Given the description of an element on the screen output the (x, y) to click on. 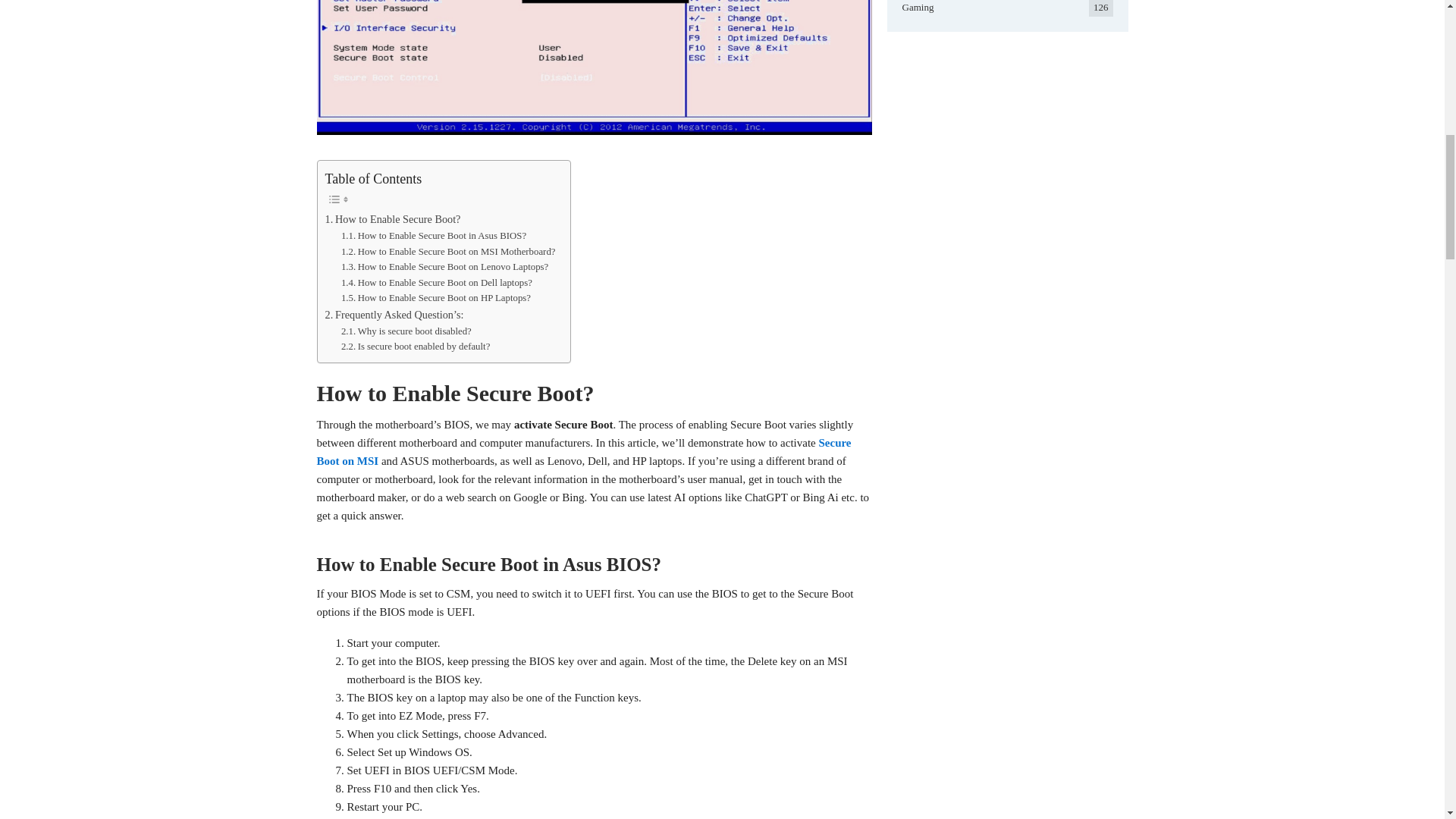
Is secure boot enabled by default? (414, 346)
Why is secure boot disabled? (405, 331)
How to Enable Secure Boot? (392, 219)
How to Enable Secure Boot on Lenovo Laptops? (444, 267)
How to Enable Secure Boot on HP Laptops? (435, 298)
How to Enable Secure Boot in Asus BIOS? (432, 236)
How to Enable Secure Boot on Dell laptops? (436, 283)
How to Enable Secure Boot? (392, 219)
How to Enable Secure Boot on HP Laptops? (435, 298)
How to Enable Secure Boot on Dell laptops? (436, 283)
